Given the description of an element on the screen output the (x, y) to click on. 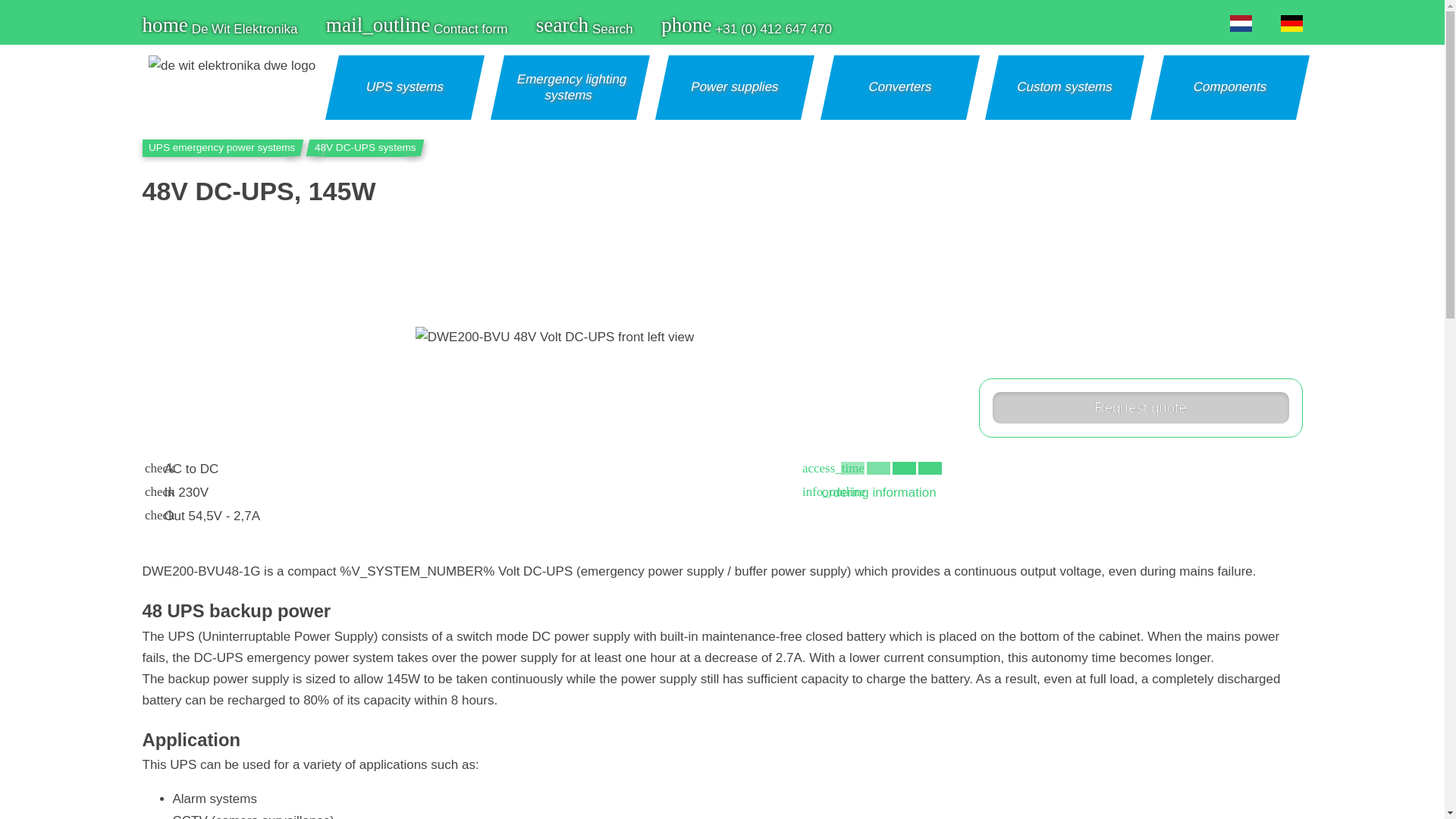
Components (1227, 87)
Request quote (1139, 408)
Custom systems (1062, 87)
Request quote (1139, 408)
48V DC-UPS systems (365, 147)
Emergency lighting systems (567, 87)
search Search (584, 29)
UPS emergency power systems (218, 147)
Converters (898, 87)
UPS systems (403, 87)
Power supplies (732, 87)
home De Wit Elektronika (220, 29)
